Given the description of an element on the screen output the (x, y) to click on. 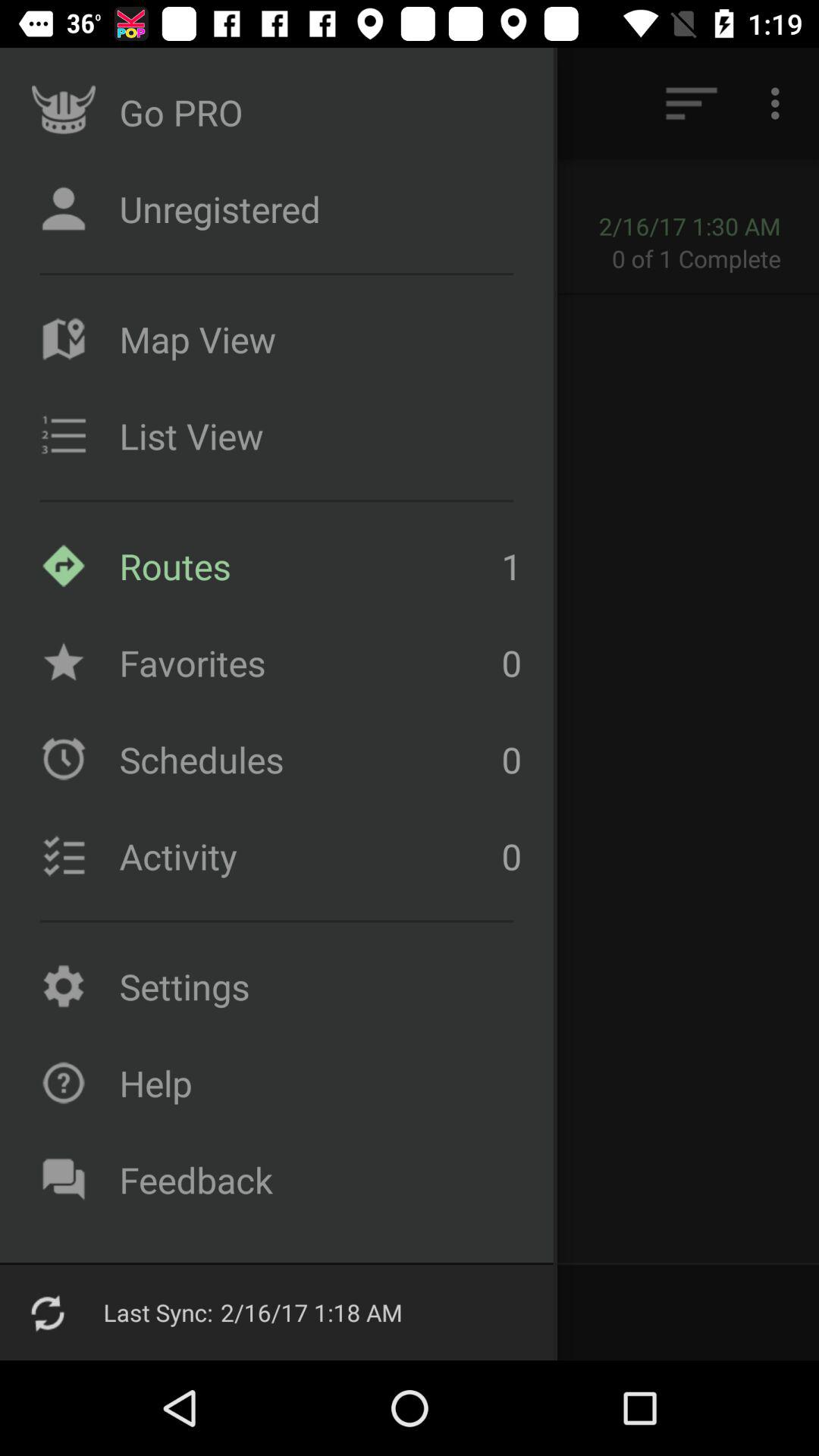
tap the routes (306, 565)
